Given the description of an element on the screen output the (x, y) to click on. 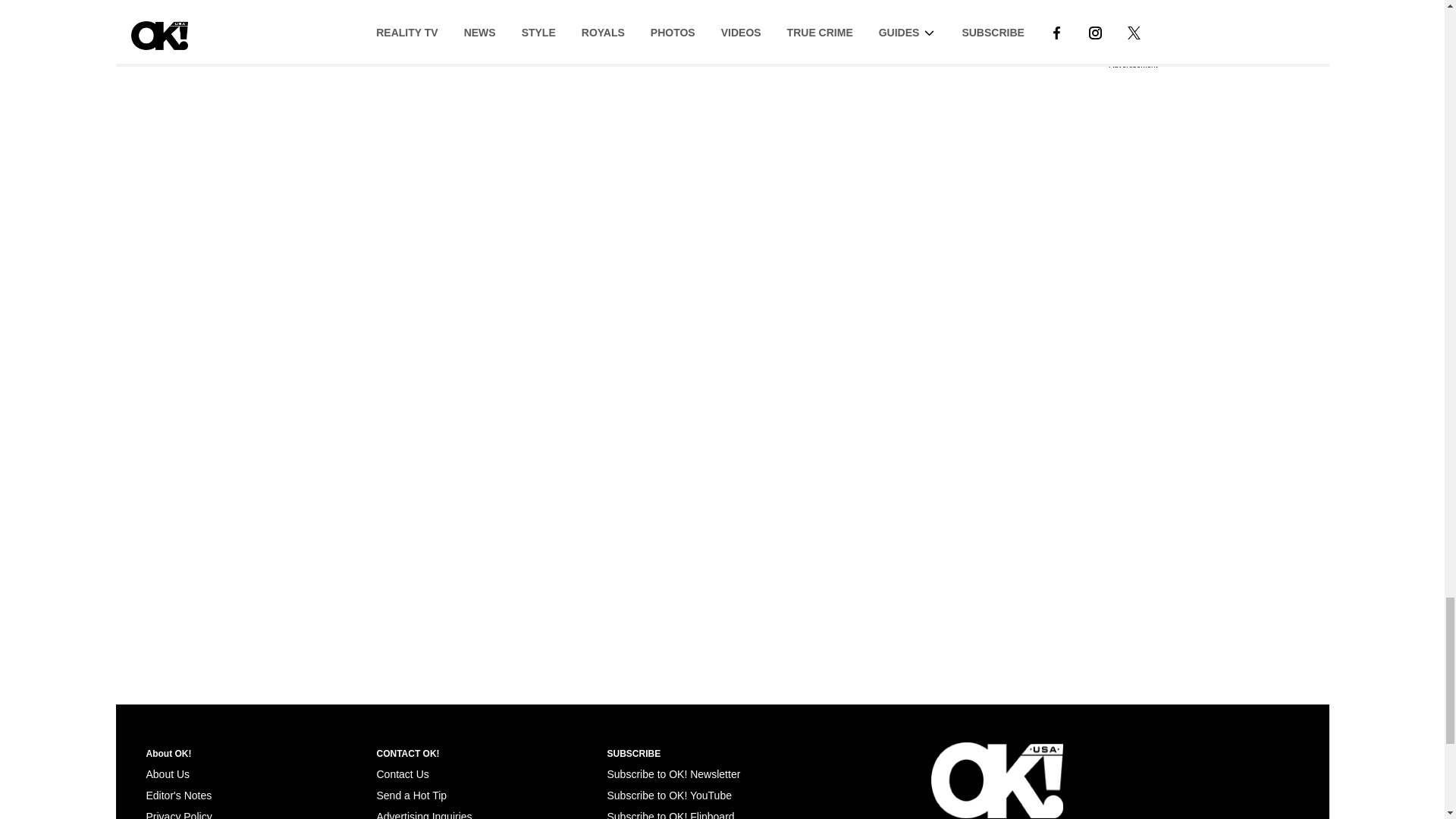
About Us (167, 774)
Send a Hot Tip (410, 795)
Editor's Notes (178, 795)
Privacy Policy (178, 814)
Contact Us (401, 774)
